Given the description of an element on the screen output the (x, y) to click on. 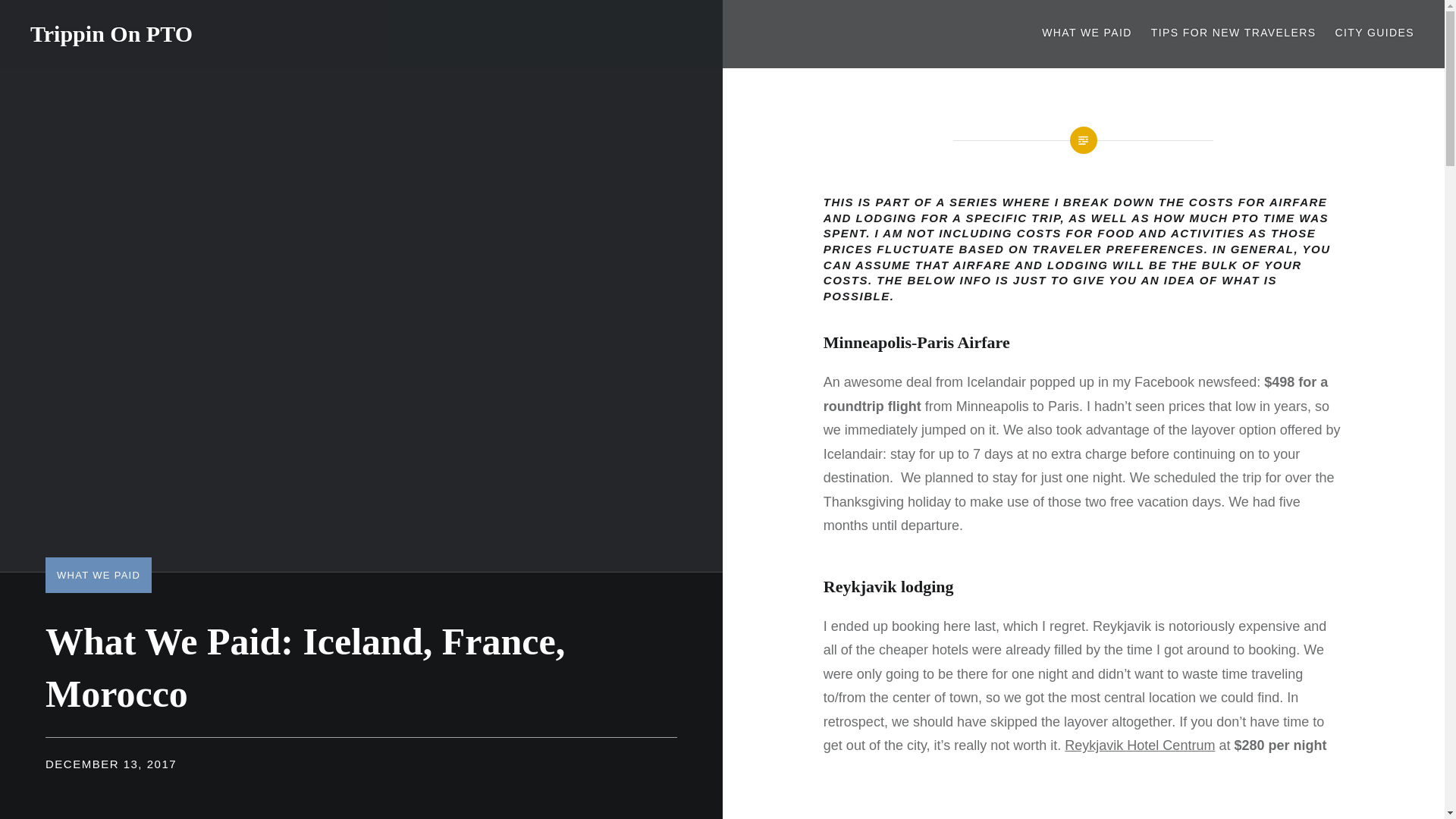
WHAT WE PAID (97, 574)
CITY GUIDES (1374, 32)
DECEMBER 13, 2017 (110, 763)
Reykjavik Hotel Centrum (1139, 744)
TIPS FOR NEW TRAVELERS (1233, 32)
Trippin On PTO (111, 33)
WHAT WE PAID (1087, 32)
